Given the description of an element on the screen output the (x, y) to click on. 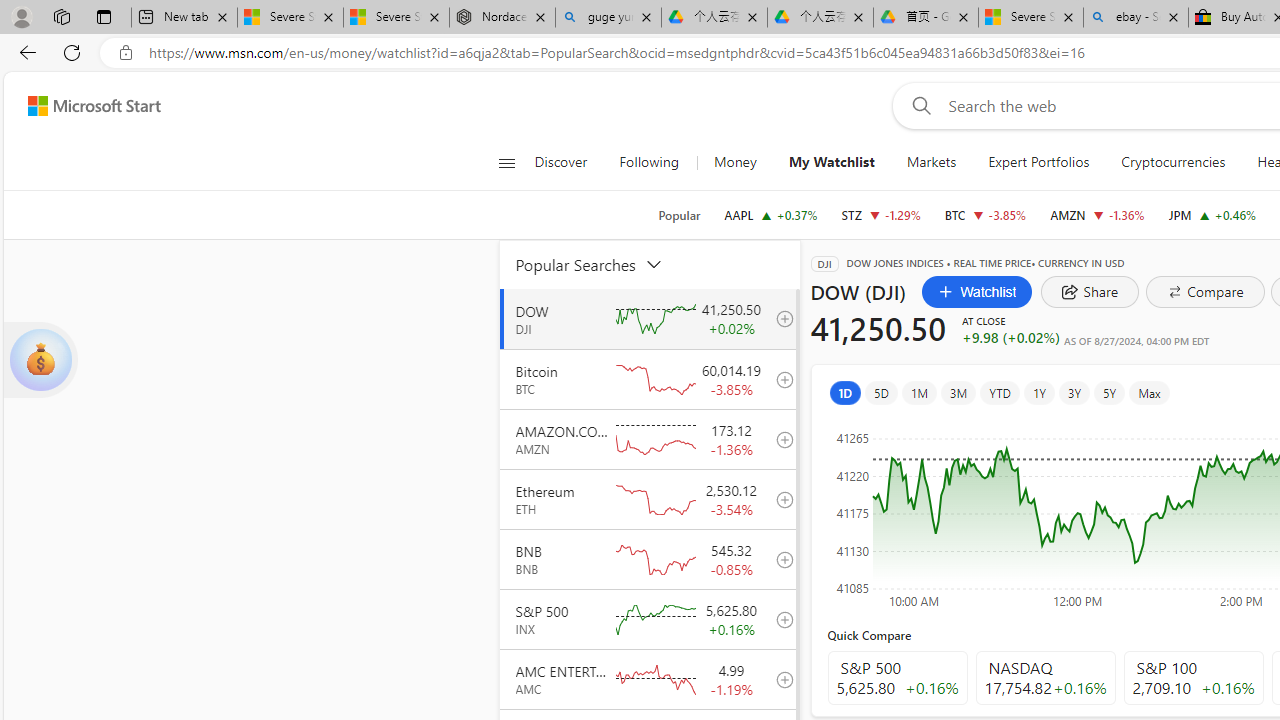
AMZN AMAZON.COM, INC. decrease 173.12 -2.38 -1.36% (1097, 214)
Cryptocurrencies (1172, 162)
My Watchlist (830, 162)
Markets (931, 162)
Cryptocurrencies (1173, 162)
Skip to footer (82, 105)
Expert Portfolios (1038, 162)
